Given the description of an element on the screen output the (x, y) to click on. 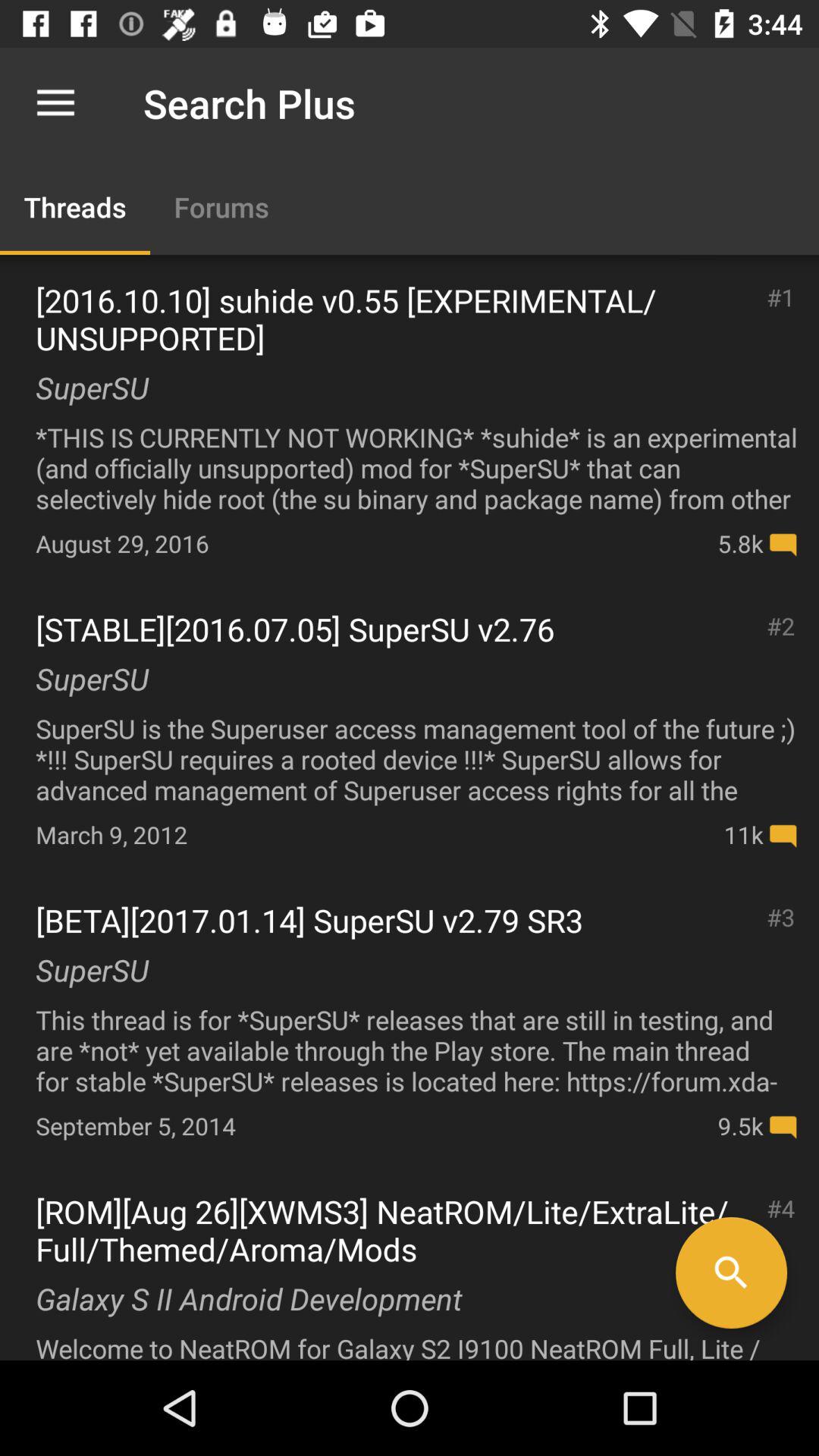
tap icon to the right of the galaxy s ii item (731, 1272)
